Given the description of an element on the screen output the (x, y) to click on. 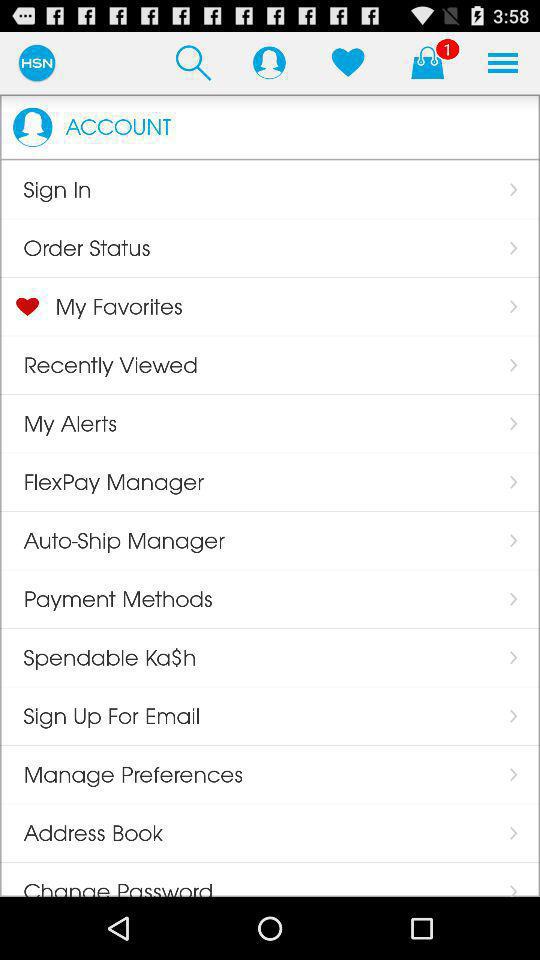
flip to the sign up for app (100, 716)
